Given the description of an element on the screen output the (x, y) to click on. 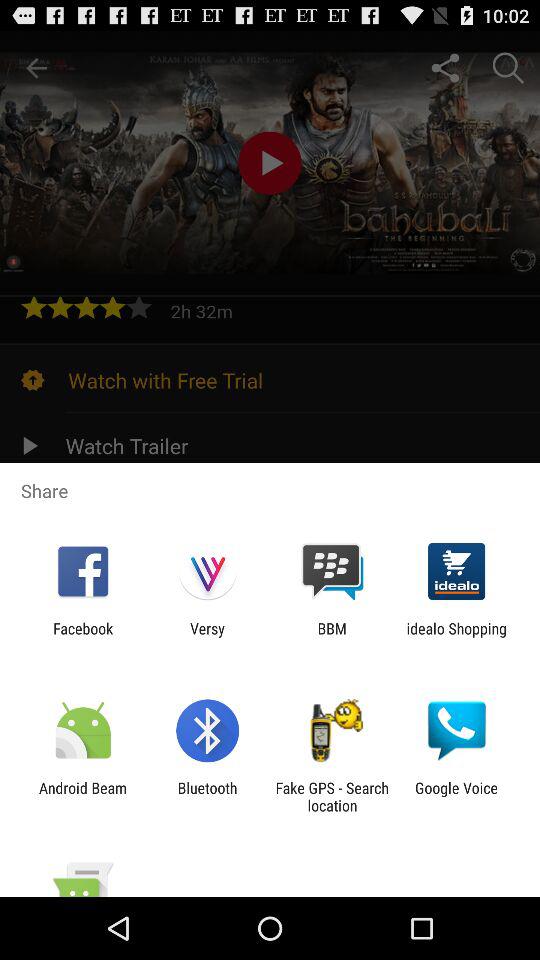
turn off item next to idealo shopping icon (331, 637)
